Given the description of an element on the screen output the (x, y) to click on. 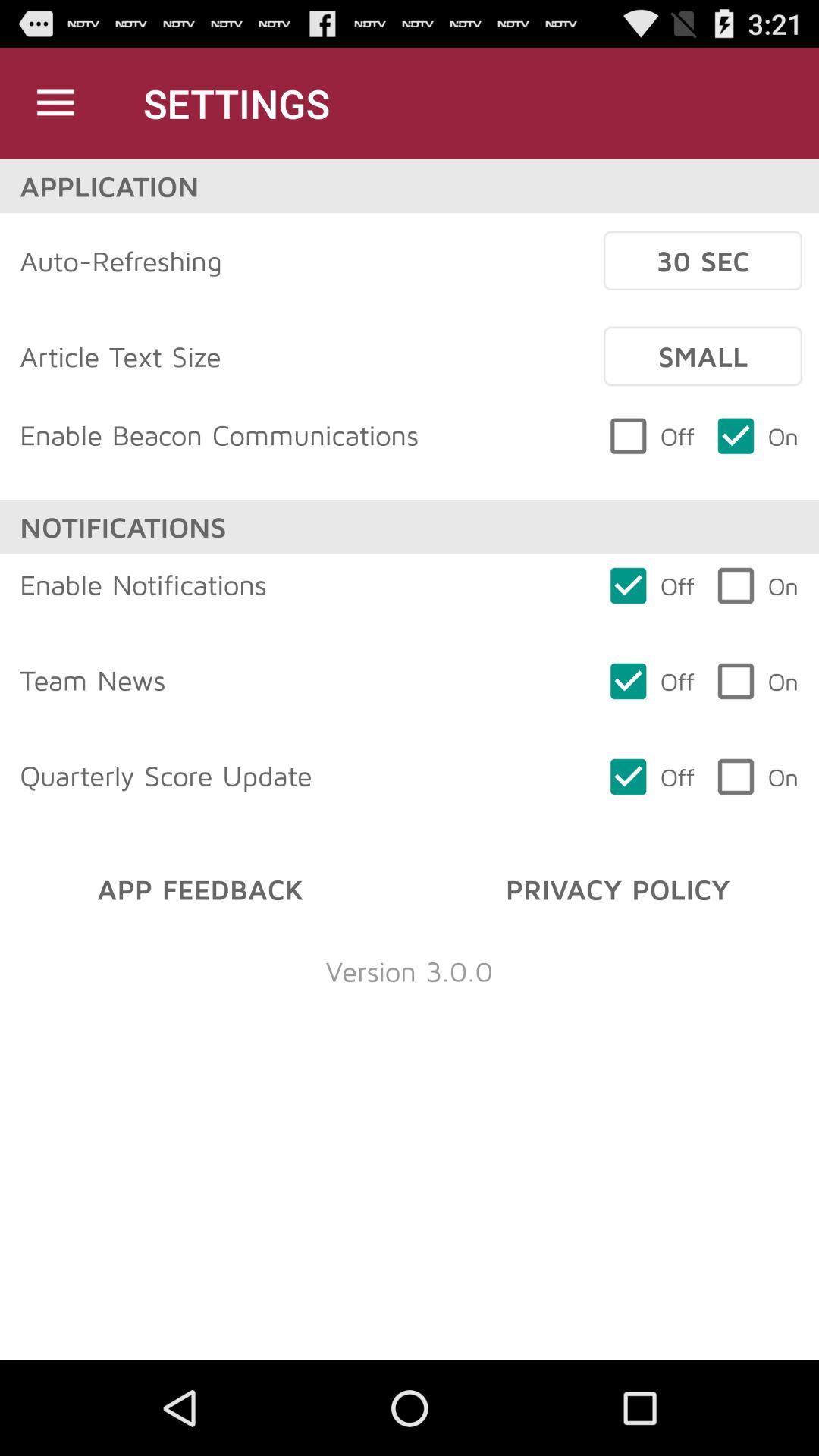
click the item next to the settings item (55, 103)
